Given the description of an element on the screen output the (x, y) to click on. 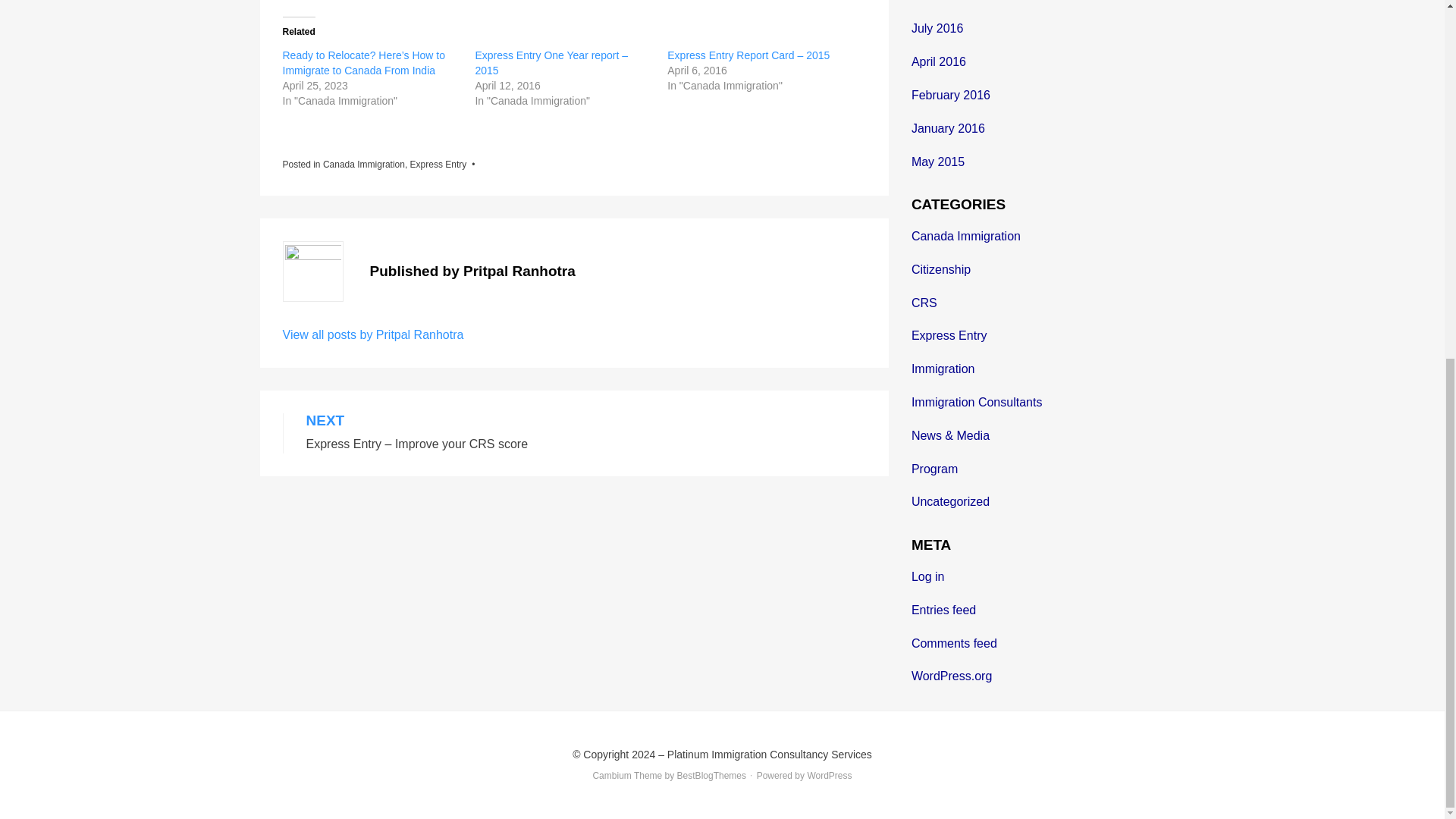
April 2016 (938, 61)
View all posts by Pritpal Ranhotra (372, 334)
Canada Immigration (363, 163)
WordPress (828, 775)
BestBlogThemes (711, 775)
February 2016 (950, 94)
October 2017 (948, 1)
Express Entry (438, 163)
July 2016 (937, 28)
